Given the description of an element on the screen output the (x, y) to click on. 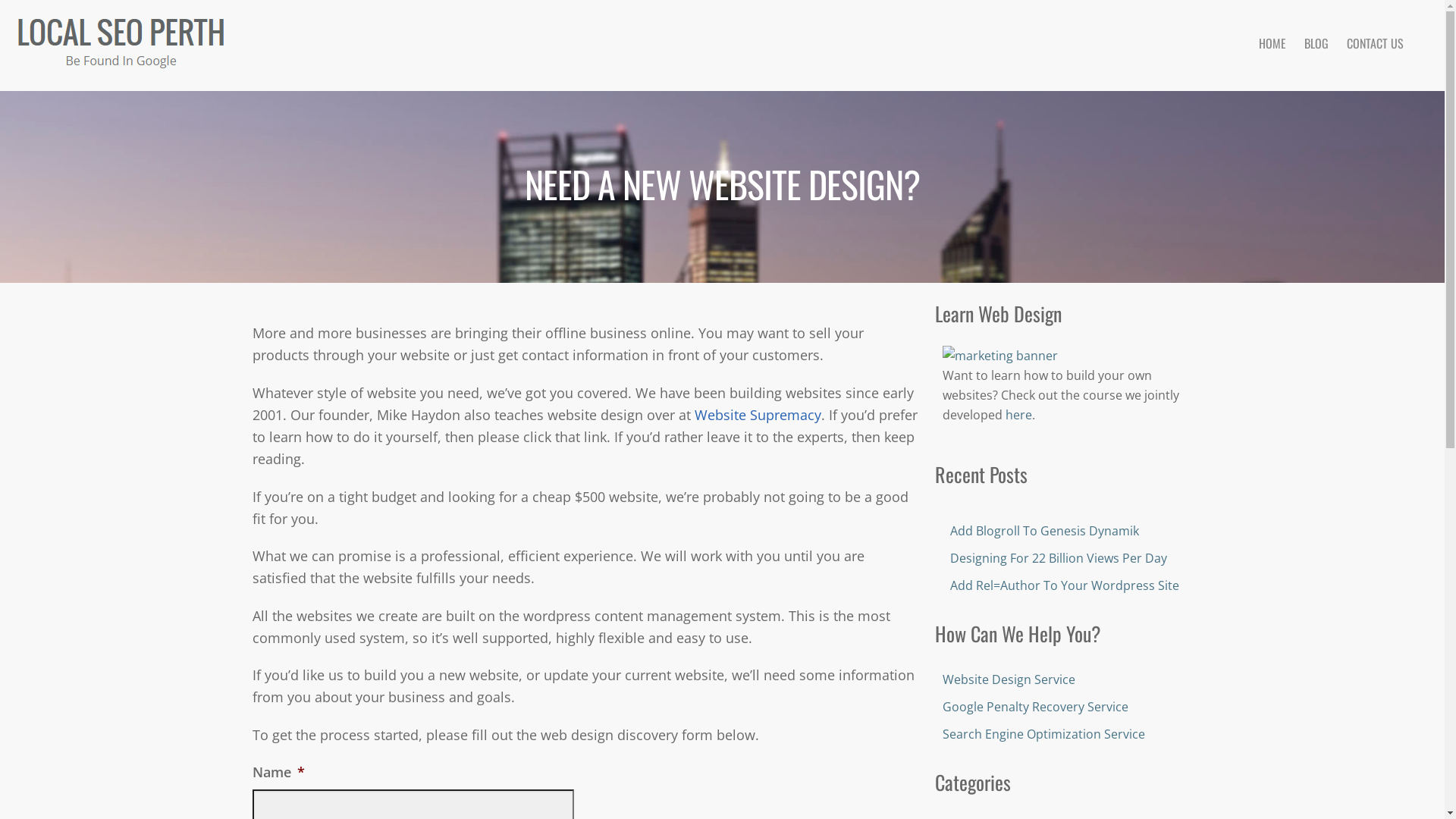
CONTACT US Element type: text (1375, 43)
Search Engine Optimization Service Element type: text (1042, 732)
BLOG Element type: text (1316, 43)
Google Penalty Recovery Service Element type: text (1034, 705)
here Element type: text (1018, 414)
Designing For 22 Billion Views Per Day Element type: text (1057, 557)
Add Blogroll To Genesis Dynamik Element type: text (1043, 530)
Add Rel=Author To Your Wordpress Site Element type: text (1063, 585)
Website Supremacy Element type: text (757, 414)
Website Design Service Element type: text (1007, 678)
HOME Element type: text (1272, 43)
